Given the description of an element on the screen output the (x, y) to click on. 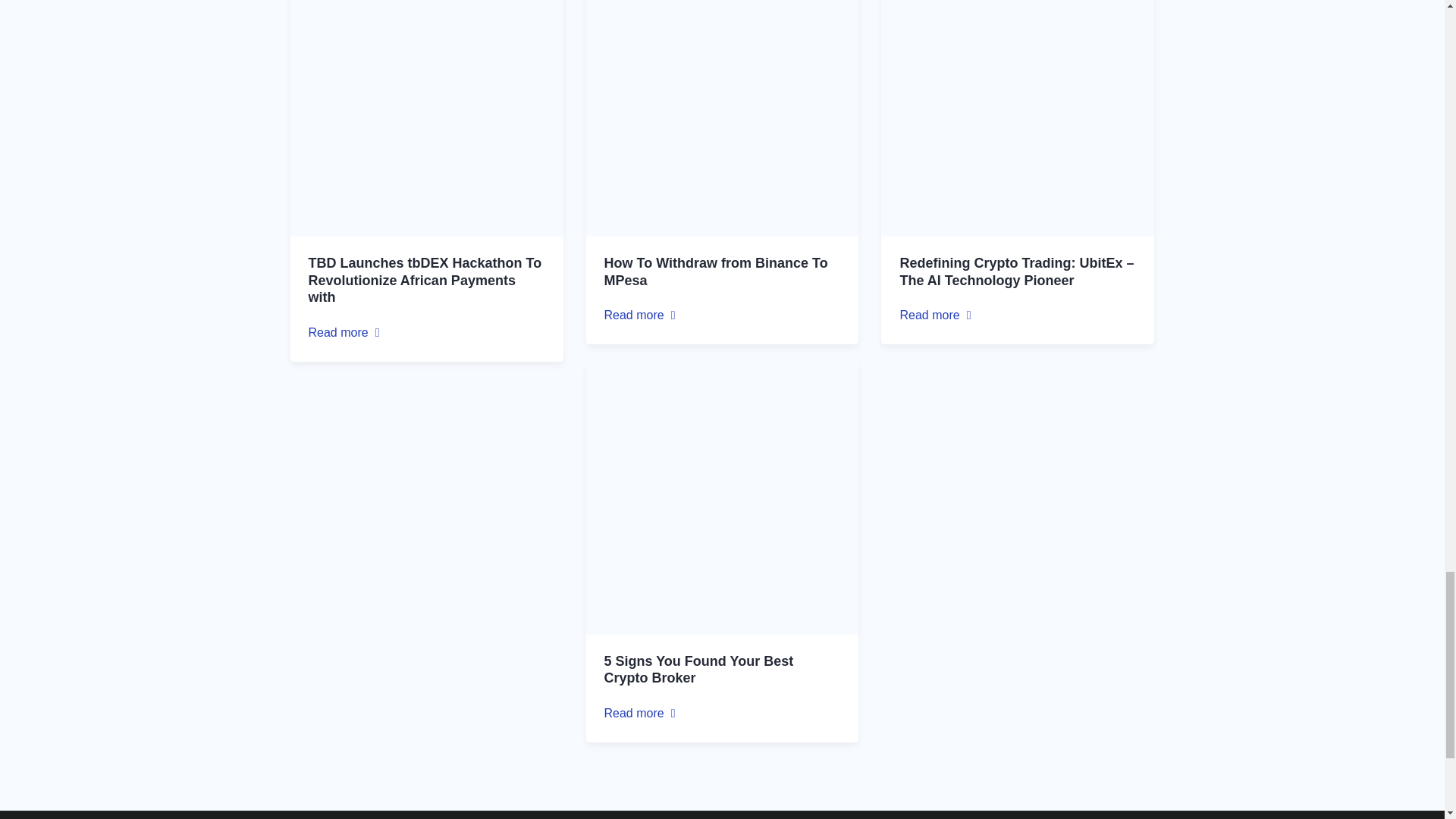
Read more (344, 332)
How To Withdraw from Binance To MPesa (715, 271)
